Given the description of an element on the screen output the (x, y) to click on. 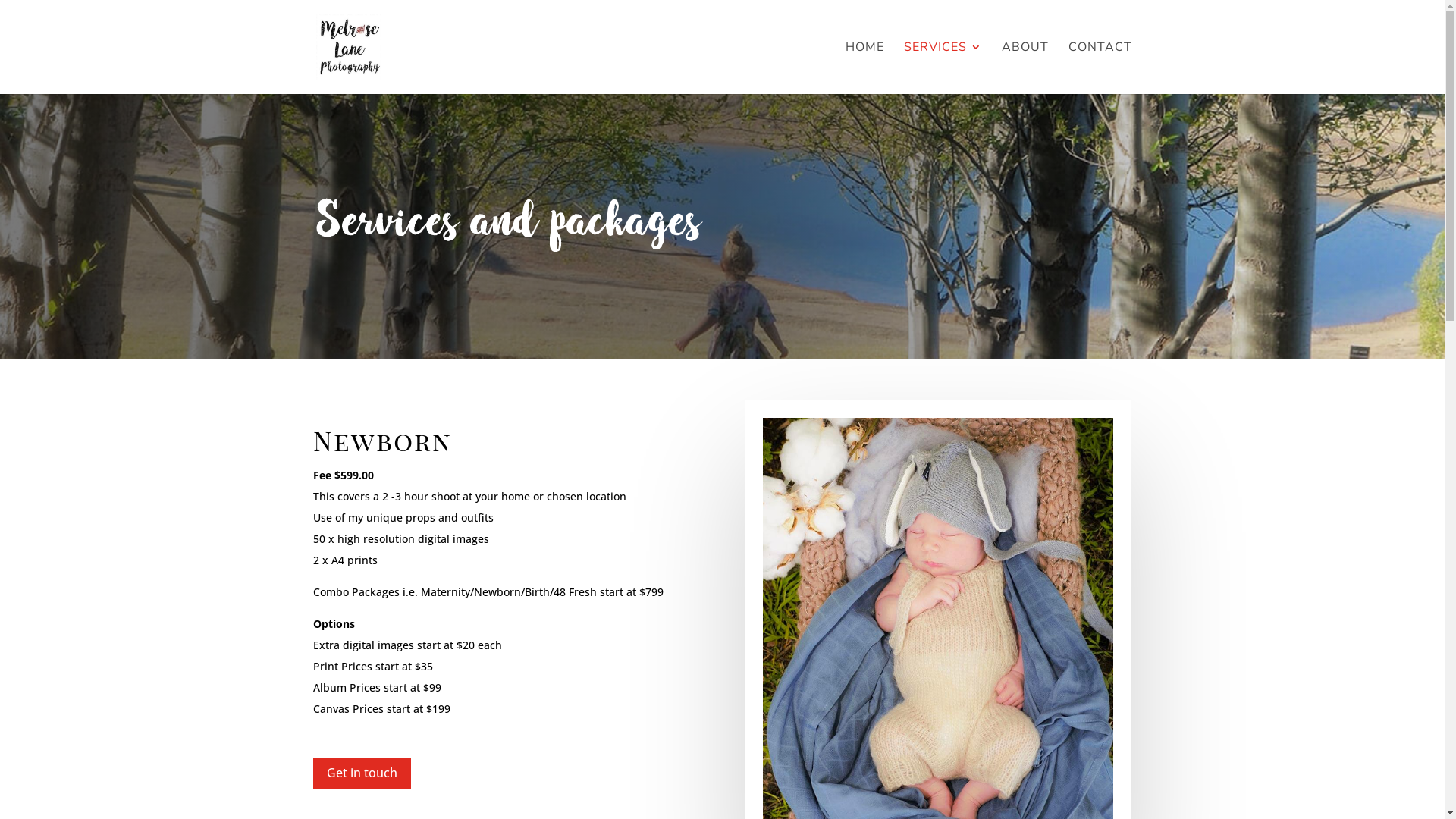
Get in touch Element type: text (361, 772)
CONTACT Element type: text (1099, 67)
ABOUT Element type: text (1024, 67)
HOME Element type: text (863, 67)
SERVICES Element type: text (942, 67)
